Given the description of an element on the screen output the (x, y) to click on. 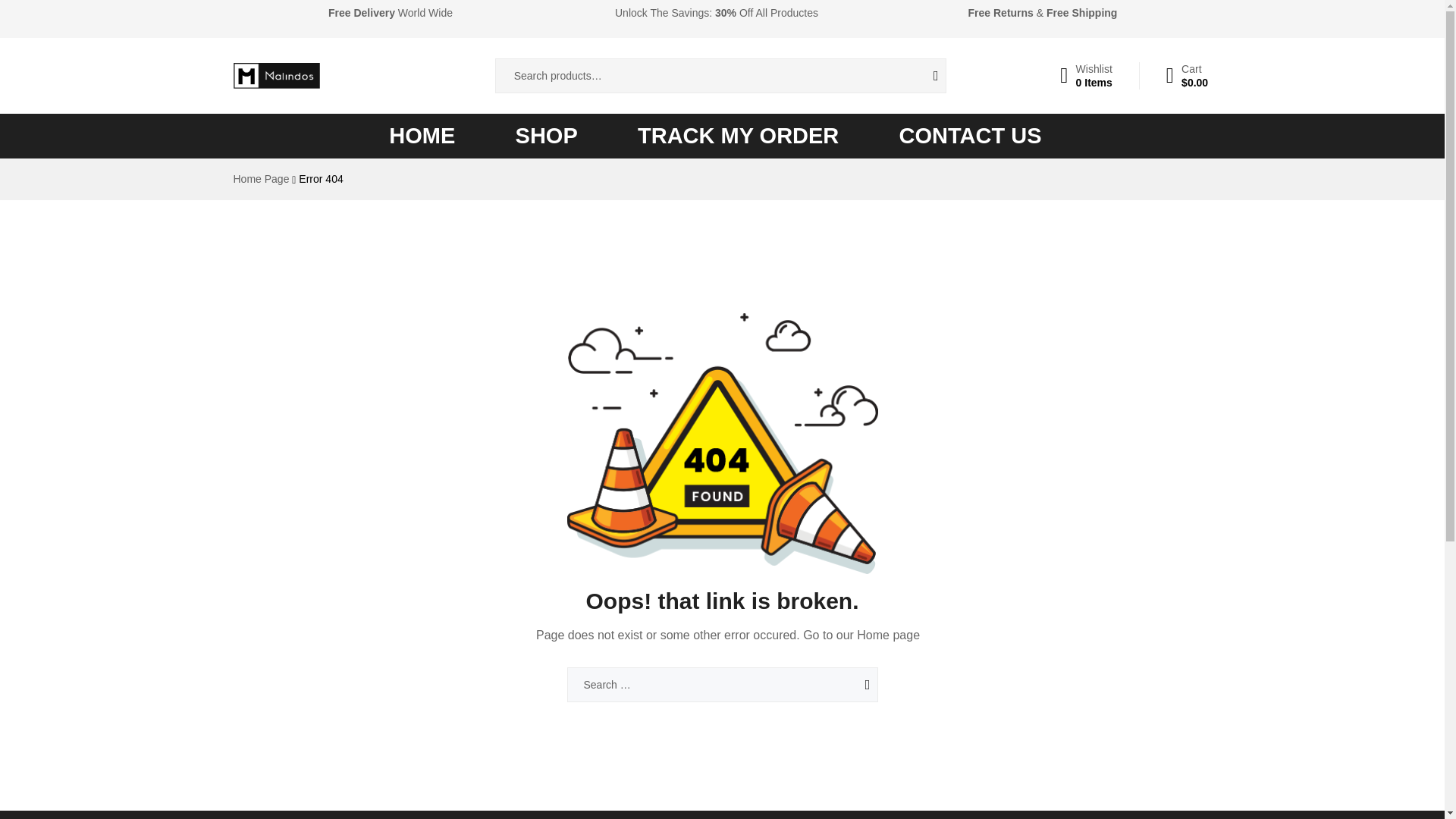
SHOP (1085, 75)
CONTACT US (546, 135)
Home page (970, 135)
Search (888, 634)
Search (846, 684)
Search (923, 75)
TRACK MY ORDER (846, 684)
Search (737, 135)
Home Page (846, 684)
